Given the description of an element on the screen output the (x, y) to click on. 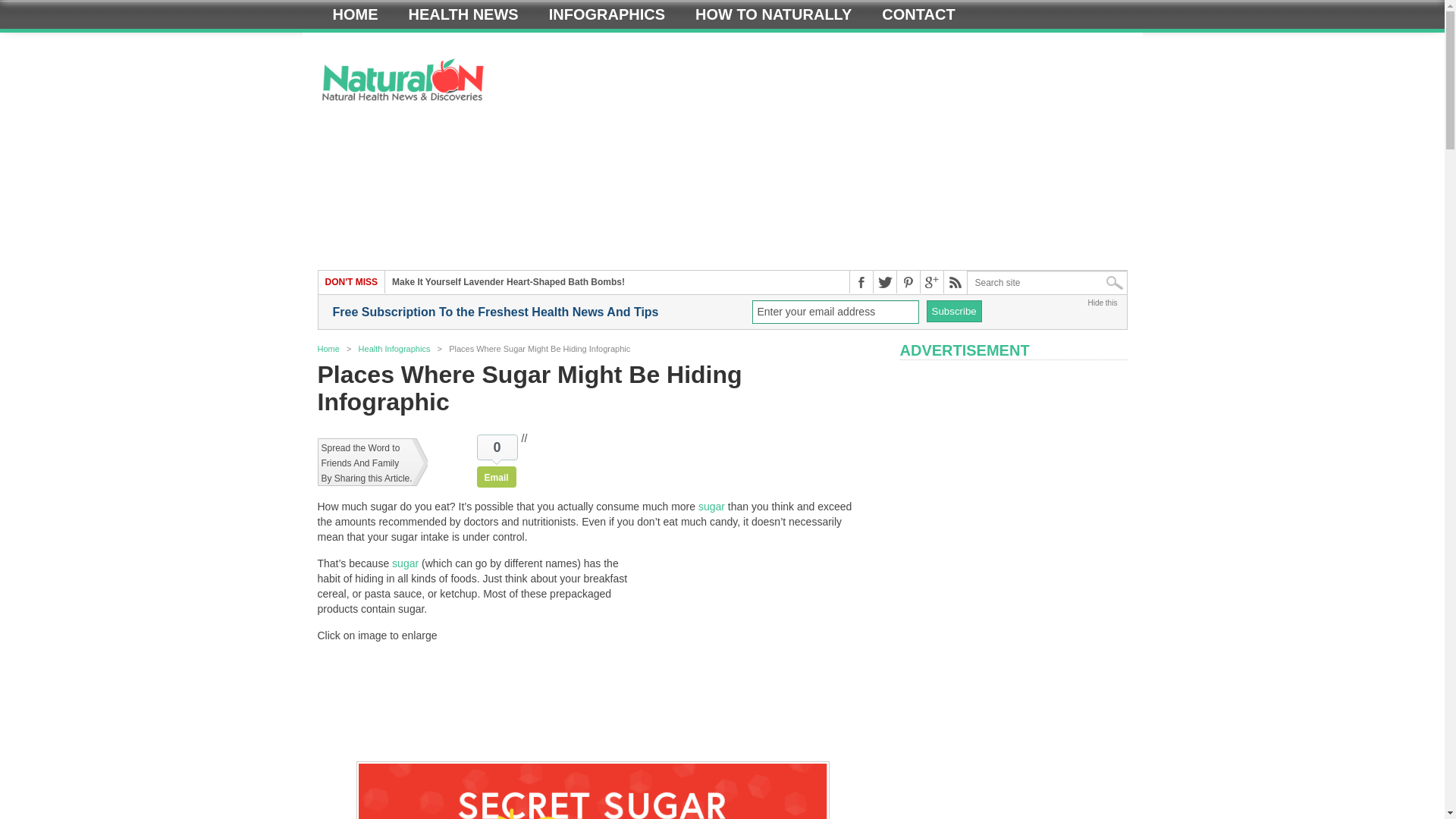
Search site (1047, 282)
0 (497, 447)
CONTACT (917, 14)
Email (496, 476)
Subscribe (953, 311)
Home (328, 347)
Health Infographics (394, 347)
HOW TO NATURALLY (772, 14)
sugar (711, 506)
Make It Yourself Lavender Heart-Shaped Bath Bombs! (507, 281)
